Given the description of an element on the screen output the (x, y) to click on. 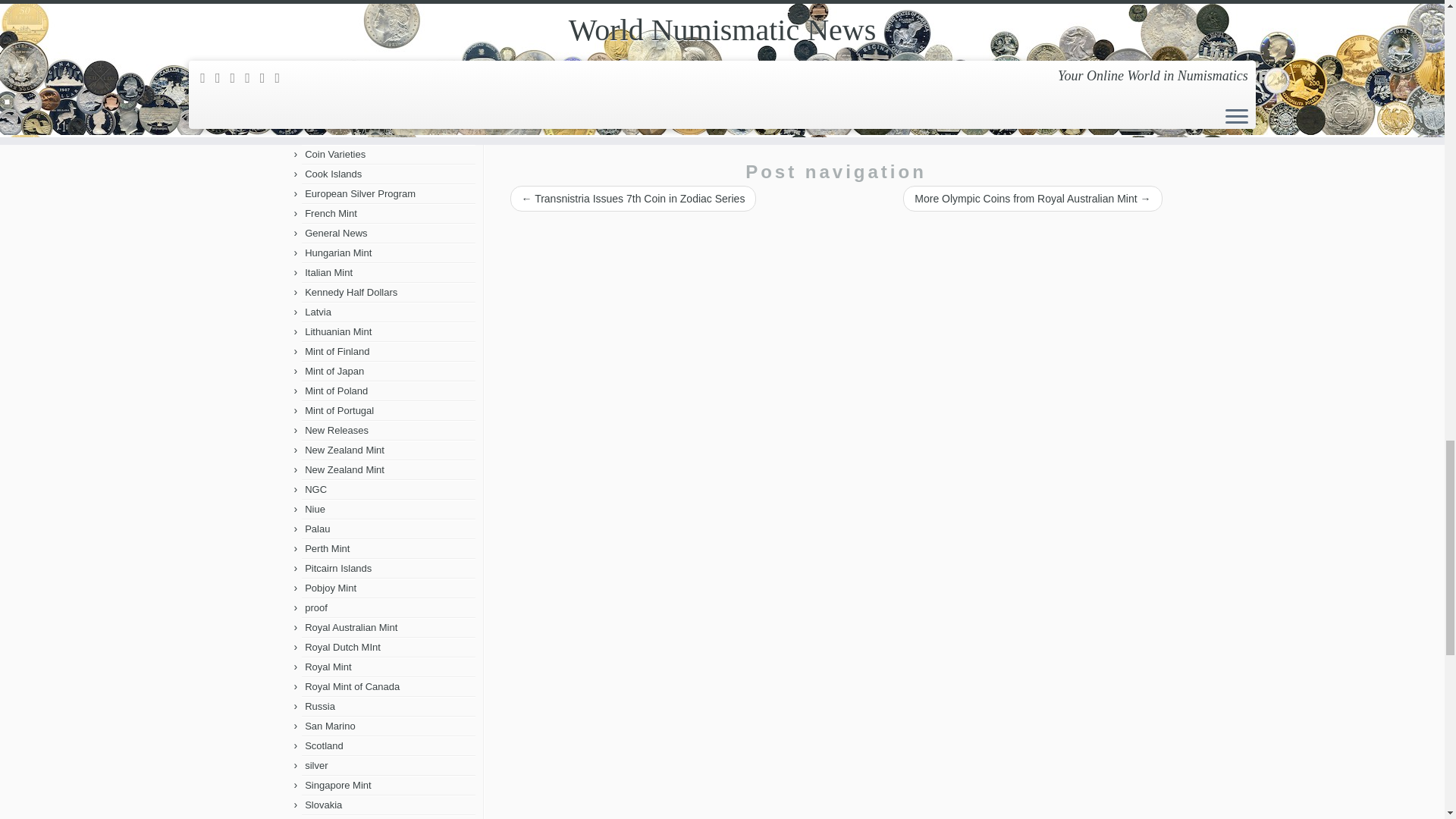
Post Comment (551, 66)
subscribe (511, 39)
subscribe (511, 11)
